Given the description of an element on the screen output the (x, y) to click on. 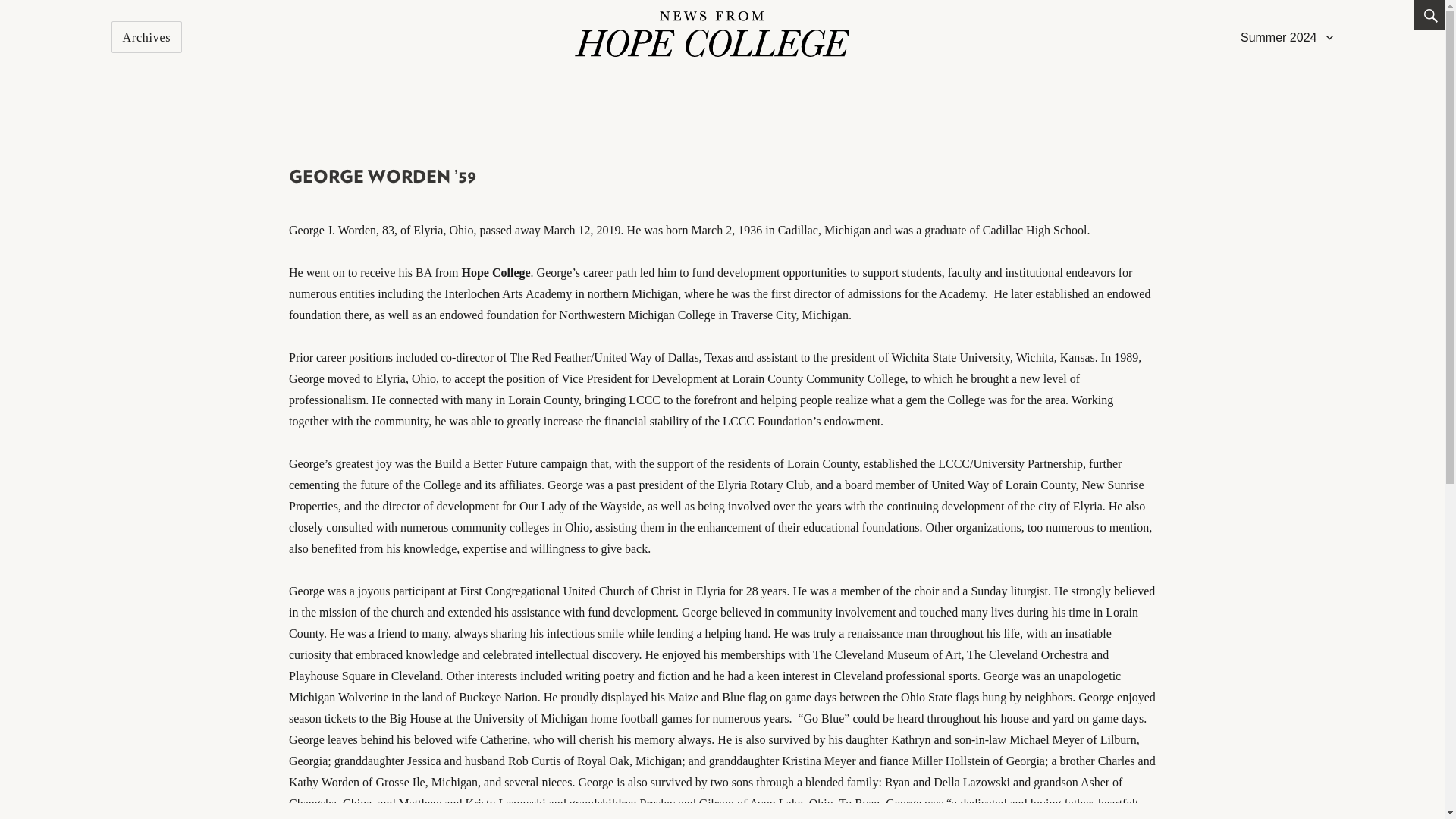
Summer 2024 (1286, 37)
Archives (147, 37)
Archives (147, 37)
